Given the description of an element on the screen output the (x, y) to click on. 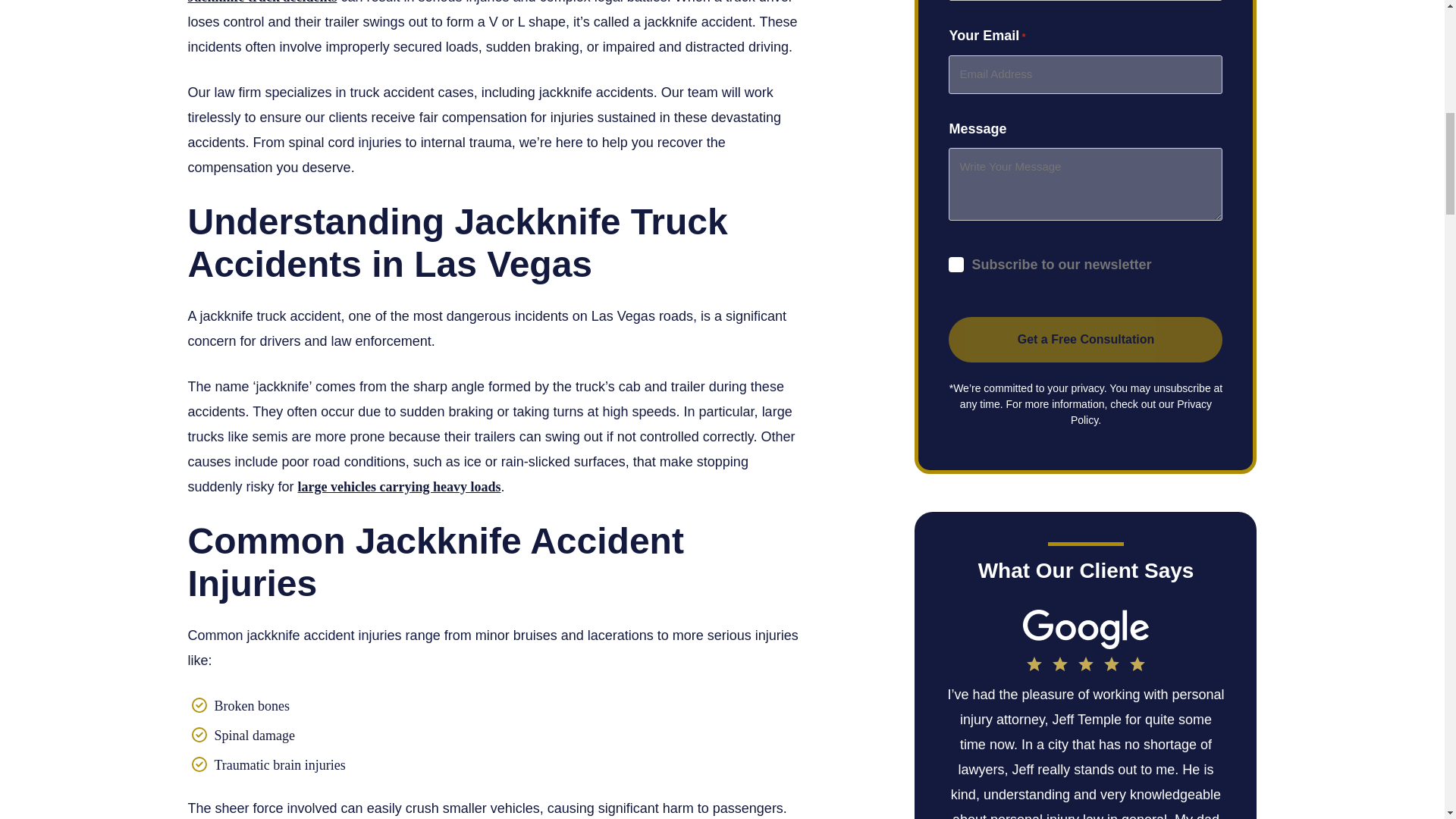
Get a Free Consultation (1086, 339)
